Given the description of an element on the screen output the (x, y) to click on. 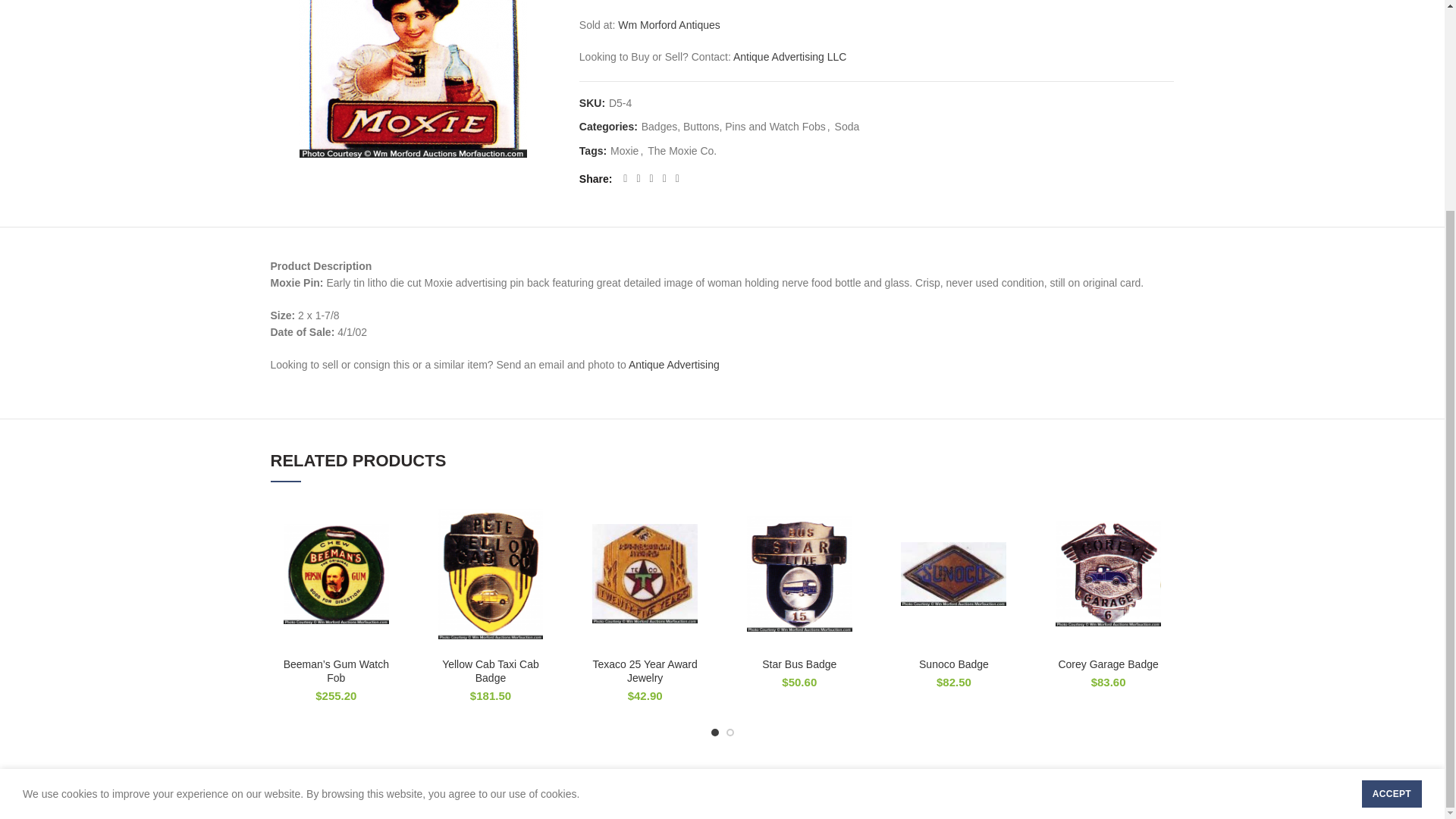
Moxie Pin (412, 94)
